Given the description of an element on the screen output the (x, y) to click on. 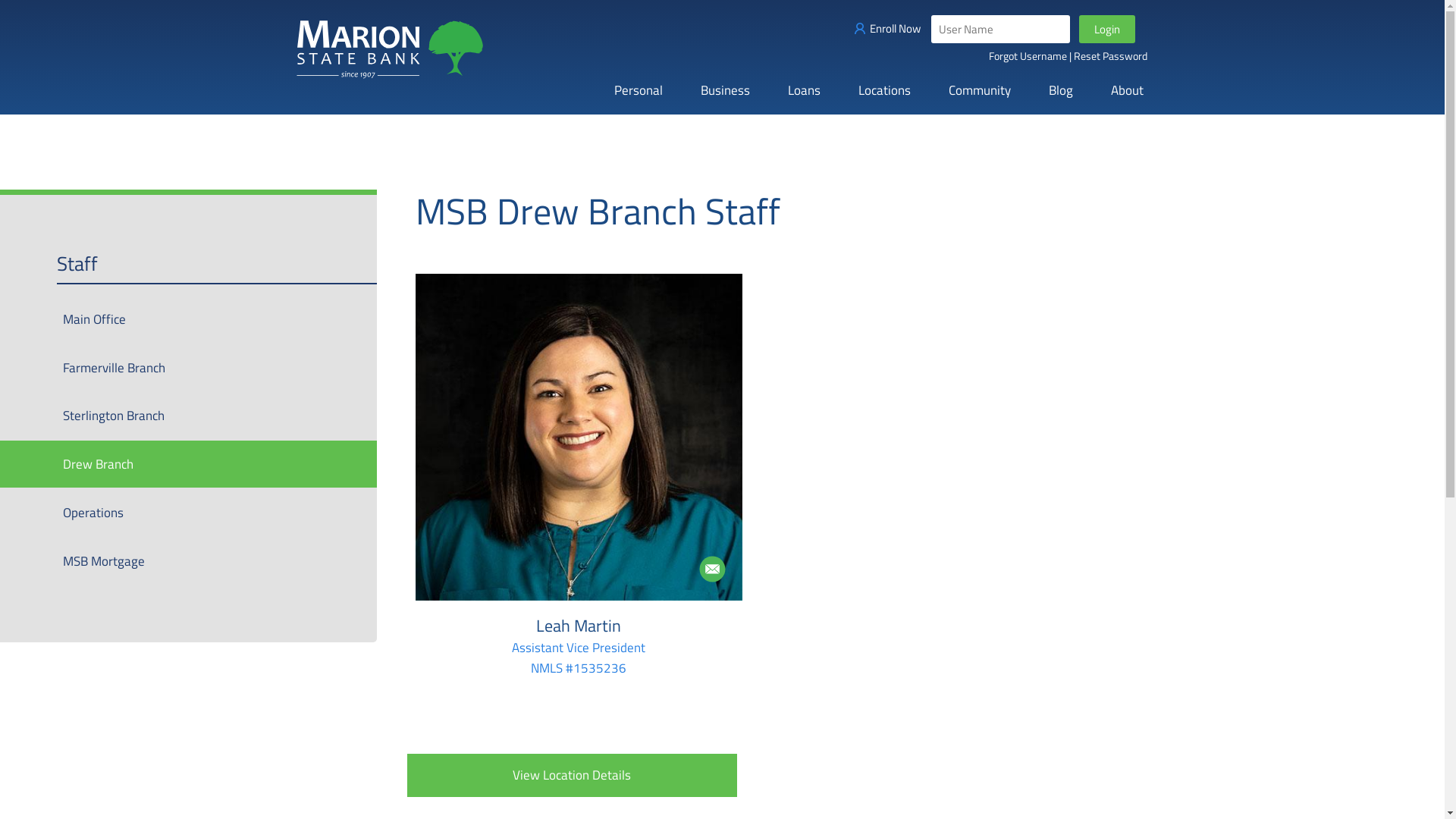
 Enroll Now Element type: text (892, 28)
Locations Element type: text (883, 90)
MSB Mortgage Element type: text (188, 560)
Login Element type: text (1107, 29)
Business Element type: text (724, 90)
Drew Branch Element type: text (188, 463)
Blog Element type: text (1060, 90)
Personal Element type: text (637, 90)
Main Office Element type: text (188, 318)
Farmerville Branch Element type: text (188, 367)
Reset Password Element type: text (1110, 55)
About Element type: text (1127, 90)
Sterlington Branch Element type: text (188, 415)
View Location Details Element type: text (572, 775)
Loans Element type: text (803, 90)
Forgot Username Element type: text (1027, 55)
Community Element type: text (979, 90)
Operations Element type: text (188, 512)
